Given the description of an element on the screen output the (x, y) to click on. 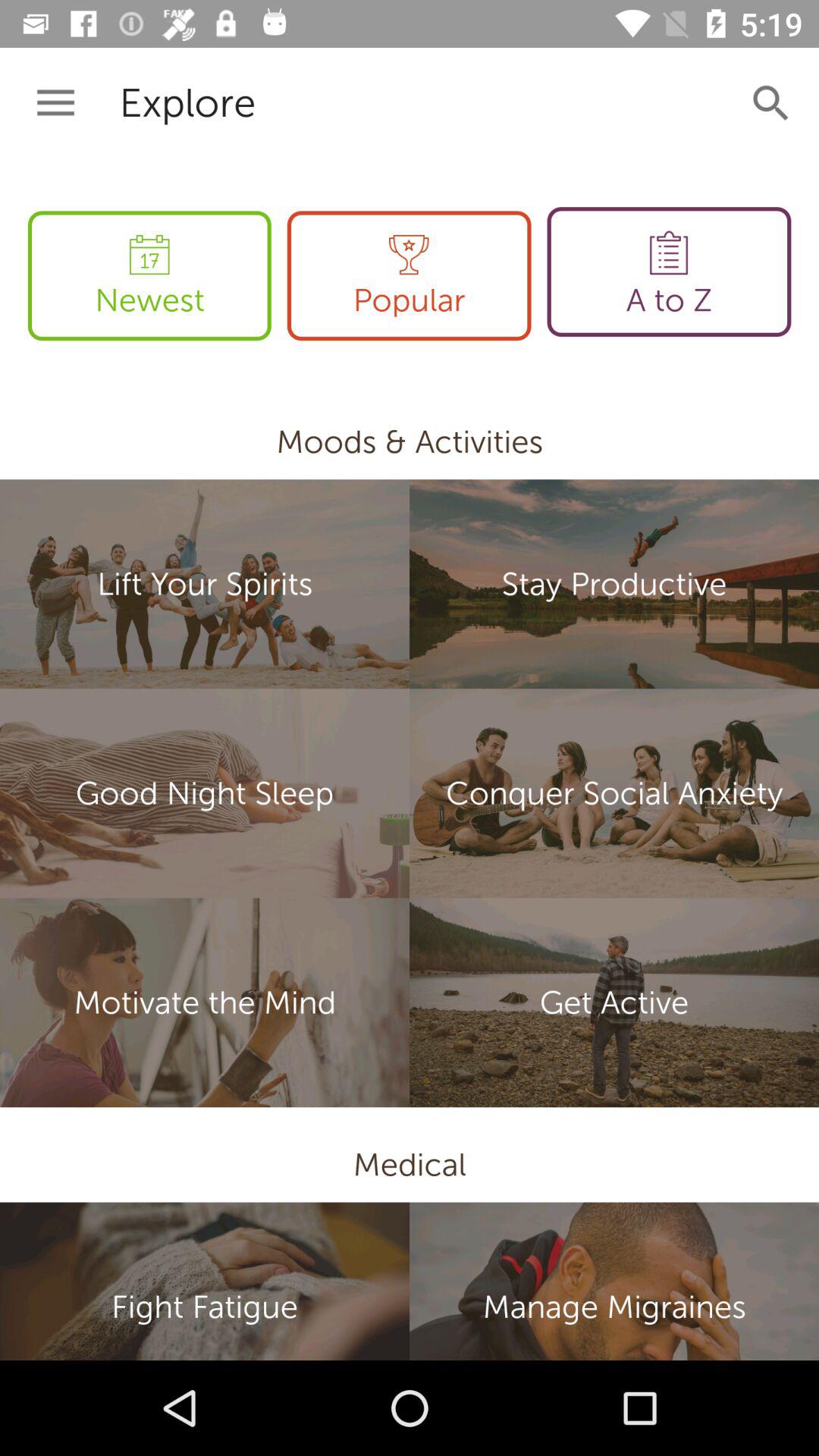
turn off item next to the a to z (409, 275)
